Given the description of an element on the screen output the (x, y) to click on. 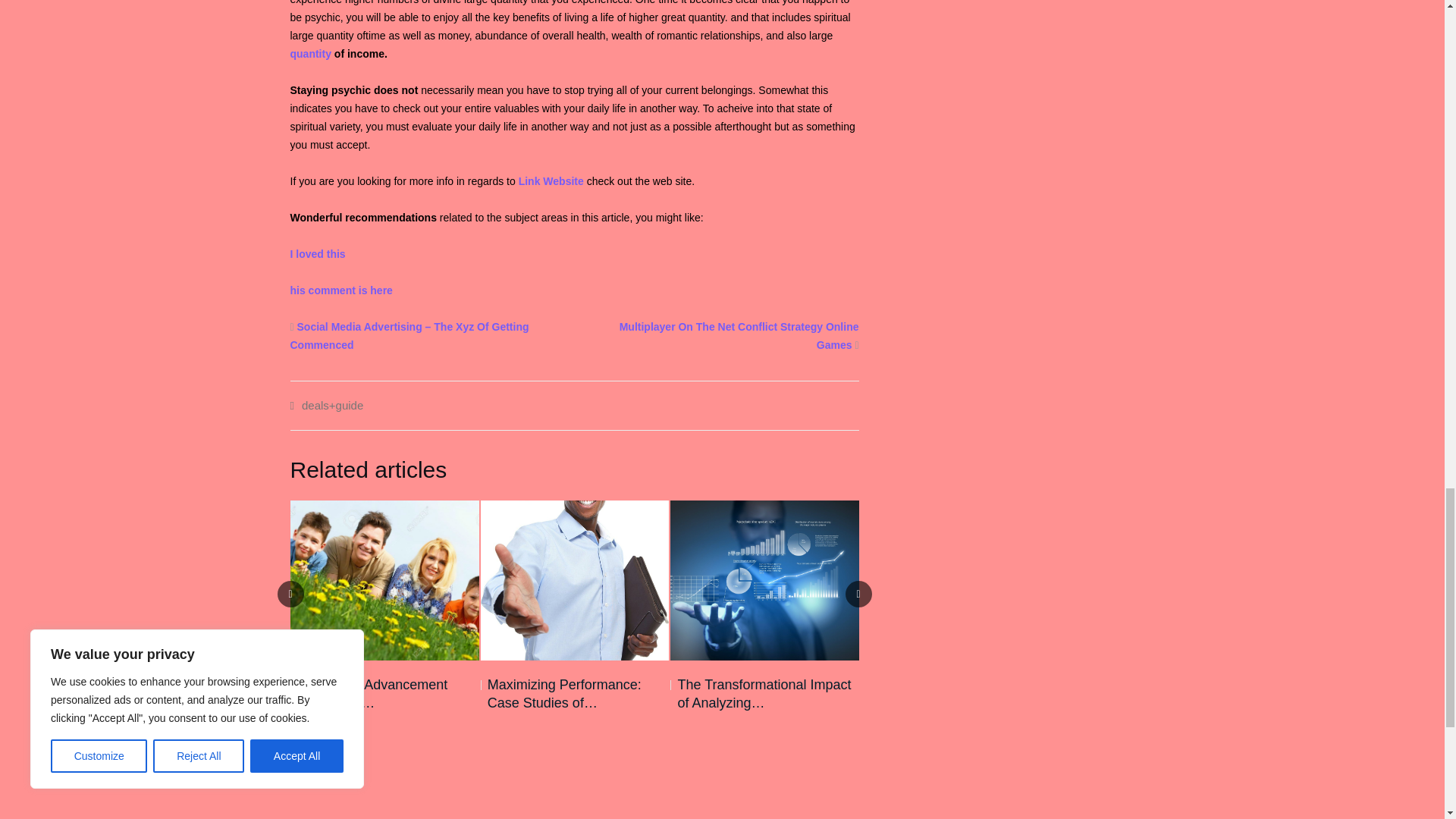
Multiplayer On The Net Conflict Strategy Online Games (739, 336)
his comment is here (340, 290)
Link Website (550, 181)
I loved this (317, 254)
quantity (309, 53)
